Given the description of an element on the screen output the (x, y) to click on. 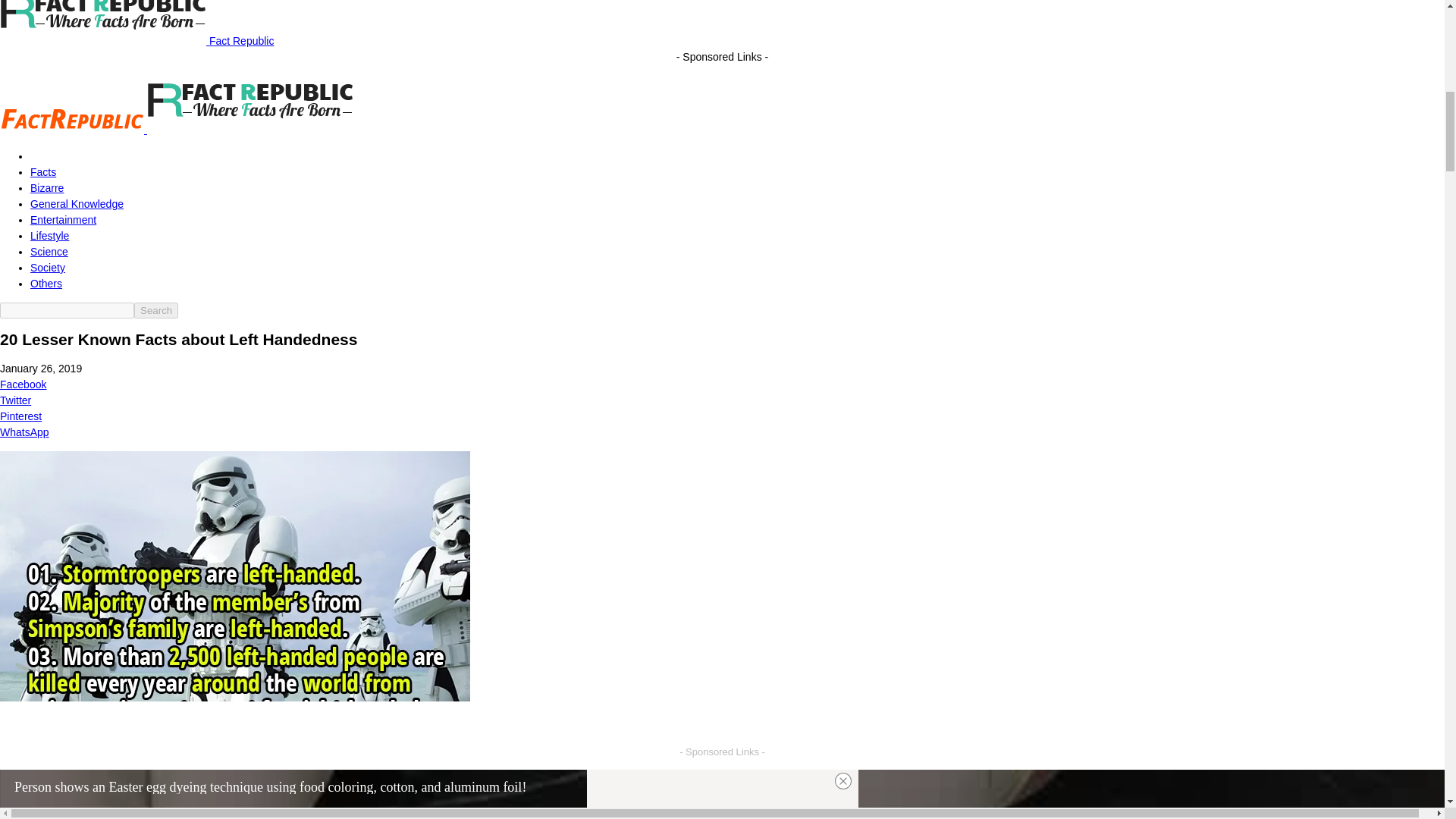
Where Facts Are Born (103, 22)
Where Facts Are Born (72, 119)
Facebook (722, 384)
Where Facts Are Born (250, 99)
Search (155, 310)
